Given the description of an element on the screen output the (x, y) to click on. 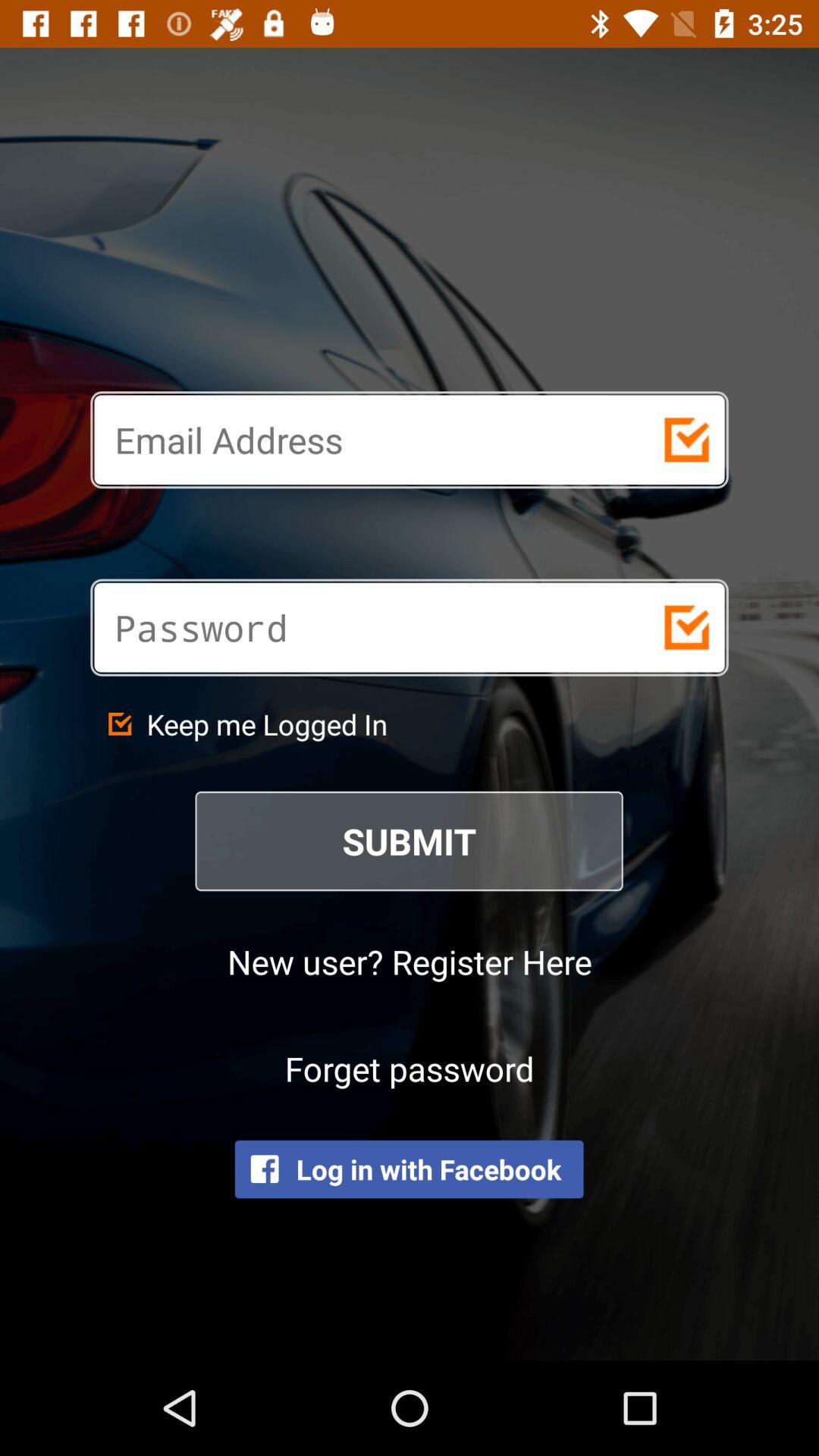
select item above the keep me logged icon (355, 627)
